Given the description of an element on the screen output the (x, y) to click on. 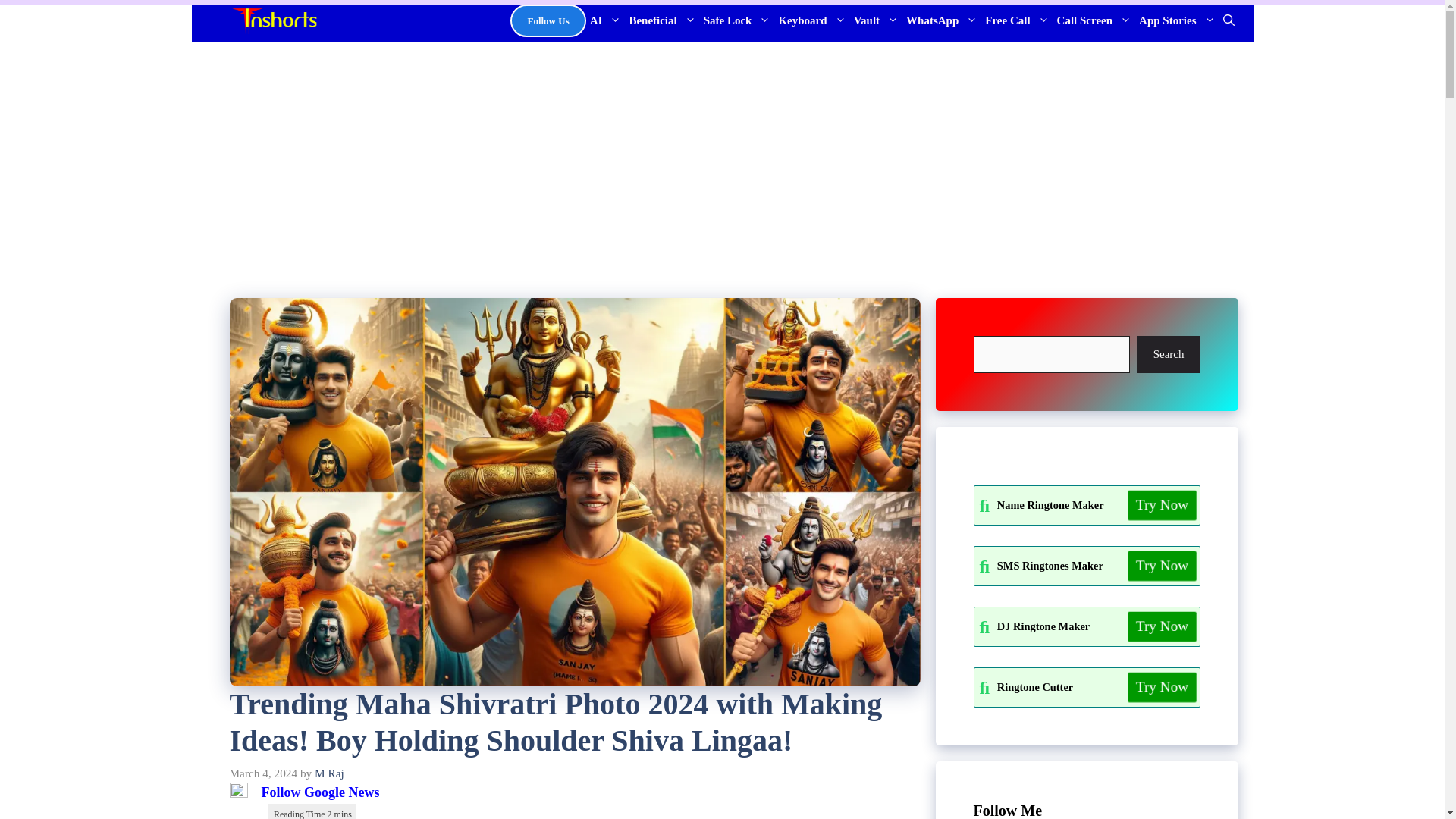
Follow Us (548, 20)
Keyboard (811, 20)
AI (606, 20)
Beneficial (661, 20)
View all posts by M Raj (328, 772)
Safe Lock (737, 20)
Vault (876, 20)
TN Shorts (272, 20)
